Given the description of an element on the screen output the (x, y) to click on. 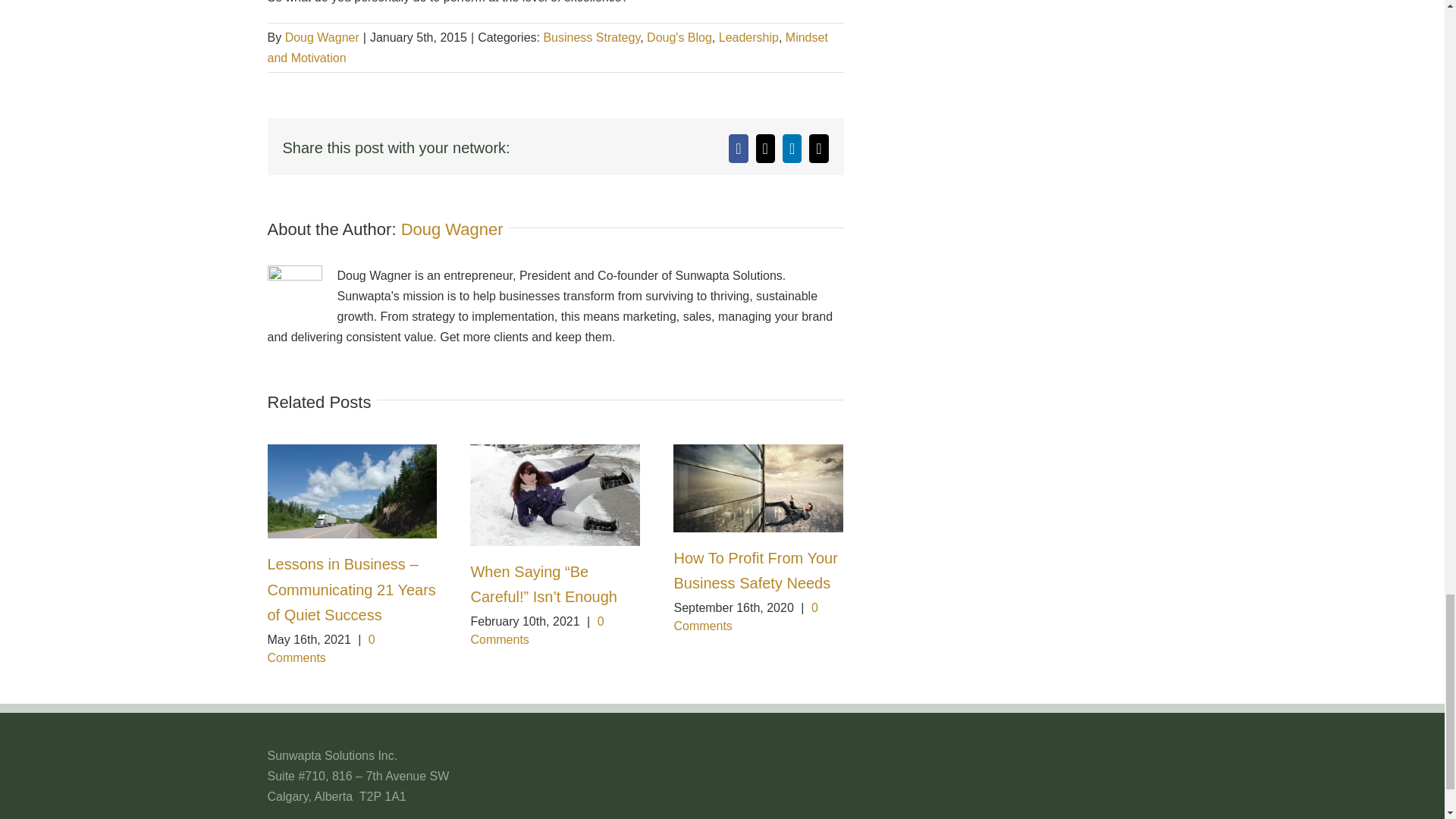
Doug Wagner (452, 229)
Posts by Doug Wagner (452, 229)
Business Strategy (591, 37)
0 Comments (537, 630)
Leadership (748, 37)
Mindset and Motivation (546, 47)
0 Comments (320, 648)
Doug's Blog (678, 37)
How To Profit From Your Business Safety Needs (754, 570)
Doug Wagner (322, 37)
